Given the description of an element on the screen output the (x, y) to click on. 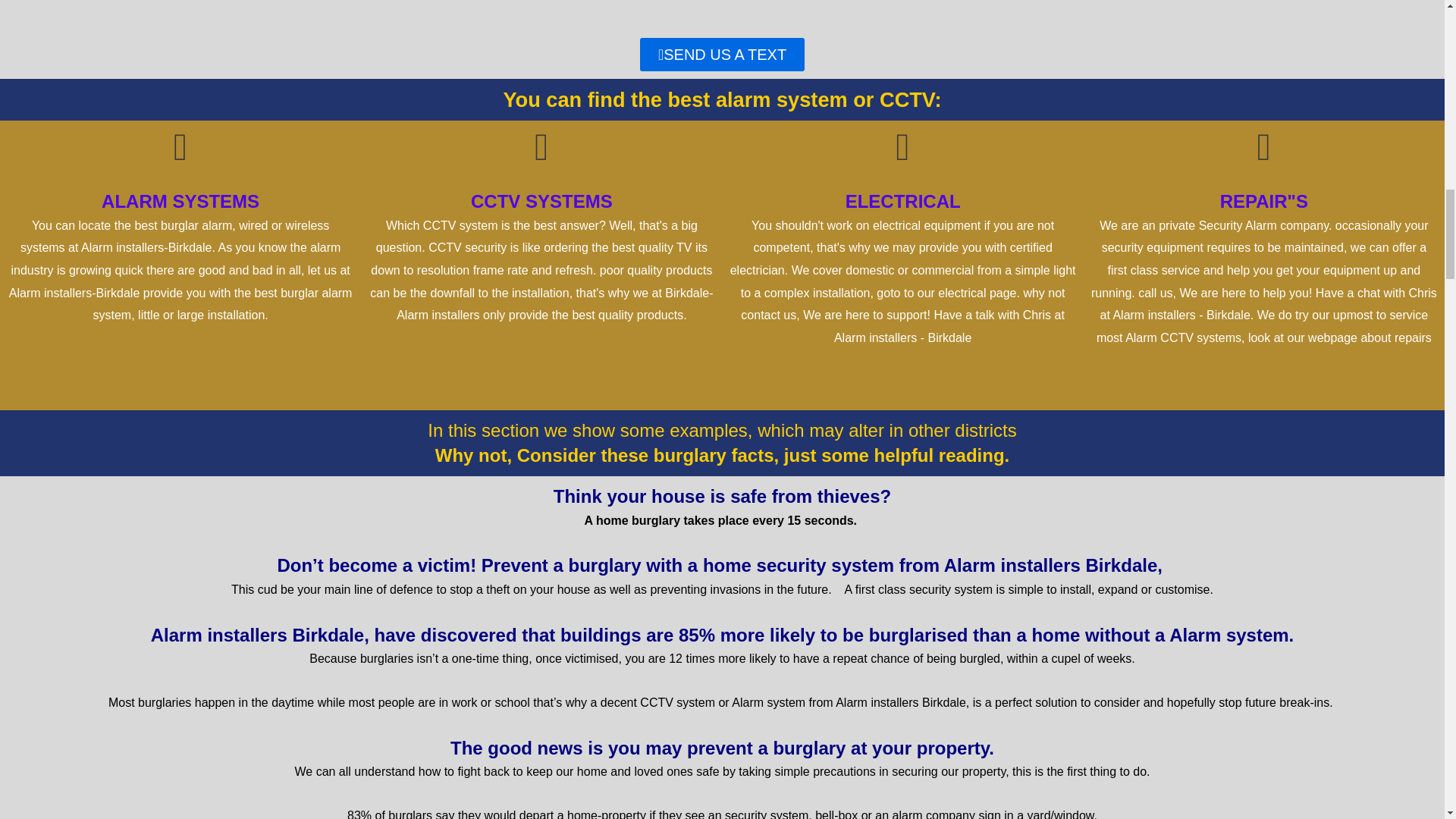
REPAIR"S (1263, 200)
ALARM SYSTEMS (180, 200)
ELECTRICAL (902, 200)
CCTV SYSTEMS (541, 200)
SEND US A TEXT (722, 54)
